Given the description of an element on the screen output the (x, y) to click on. 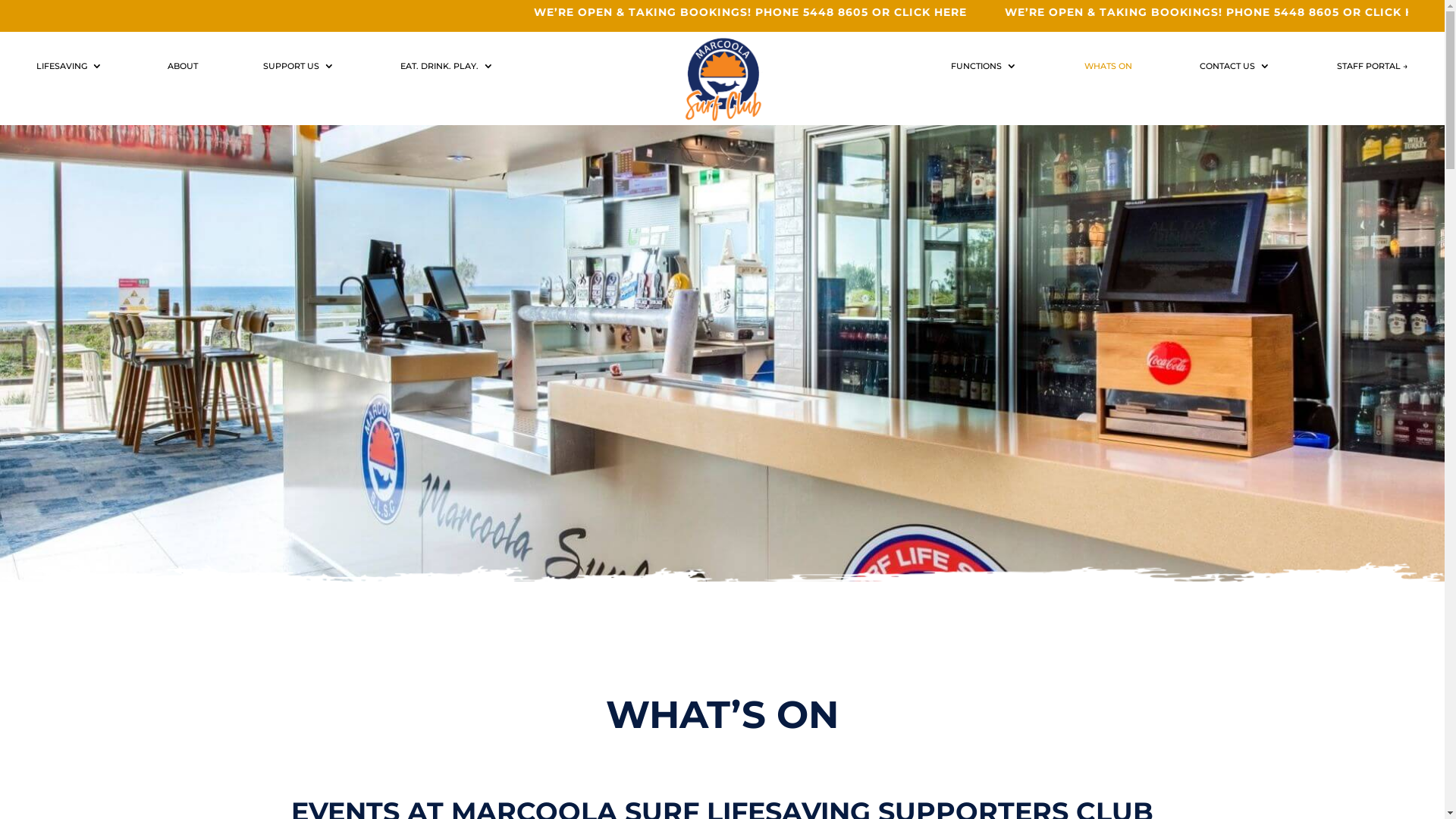
EAT. DRINK. PLAY. Element type: text (446, 68)
FUNCTIONS Element type: text (983, 68)
ABOUT Element type: text (182, 68)
SUPPORT US Element type: text (298, 68)
CONTACT US Element type: text (1234, 68)
LIFESAVING Element type: text (69, 68)
border_hero_image | marcoola surf club Element type: hover (722, 605)
Marcoola Surf Club Logo Web Element type: hover (721, 78)
WHATS ON Element type: text (1108, 68)
